Given the description of an element on the screen output the (x, y) to click on. 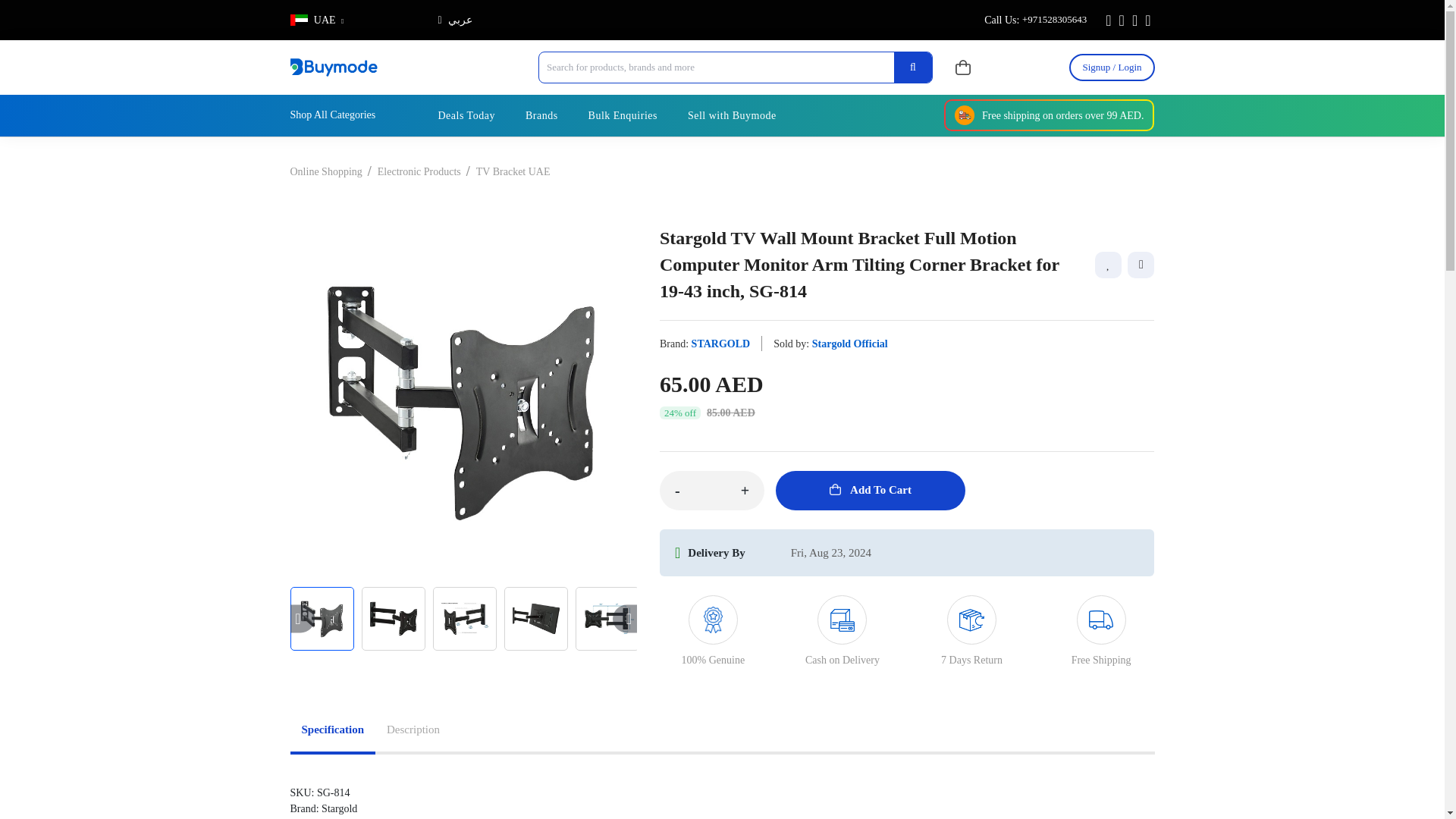
Flag (298, 19)
Image (465, 617)
Image (393, 617)
Image (535, 617)
Cart (963, 67)
Image (322, 617)
Buymode (333, 67)
Image (606, 617)
Add to wishlist (1107, 264)
